Given the description of an element on the screen output the (x, y) to click on. 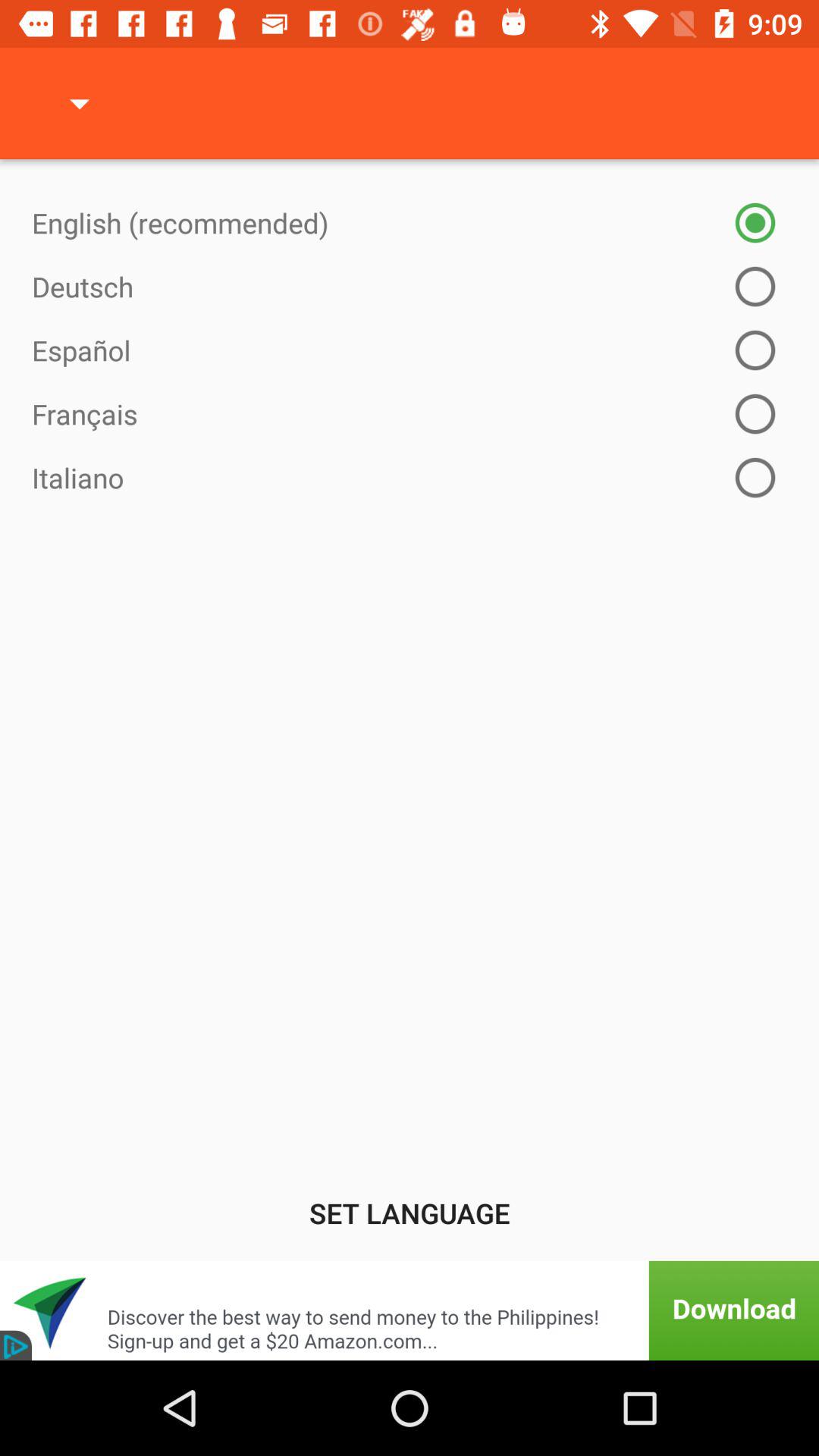
advertisements (409, 1310)
